Given the description of an element on the screen output the (x, y) to click on. 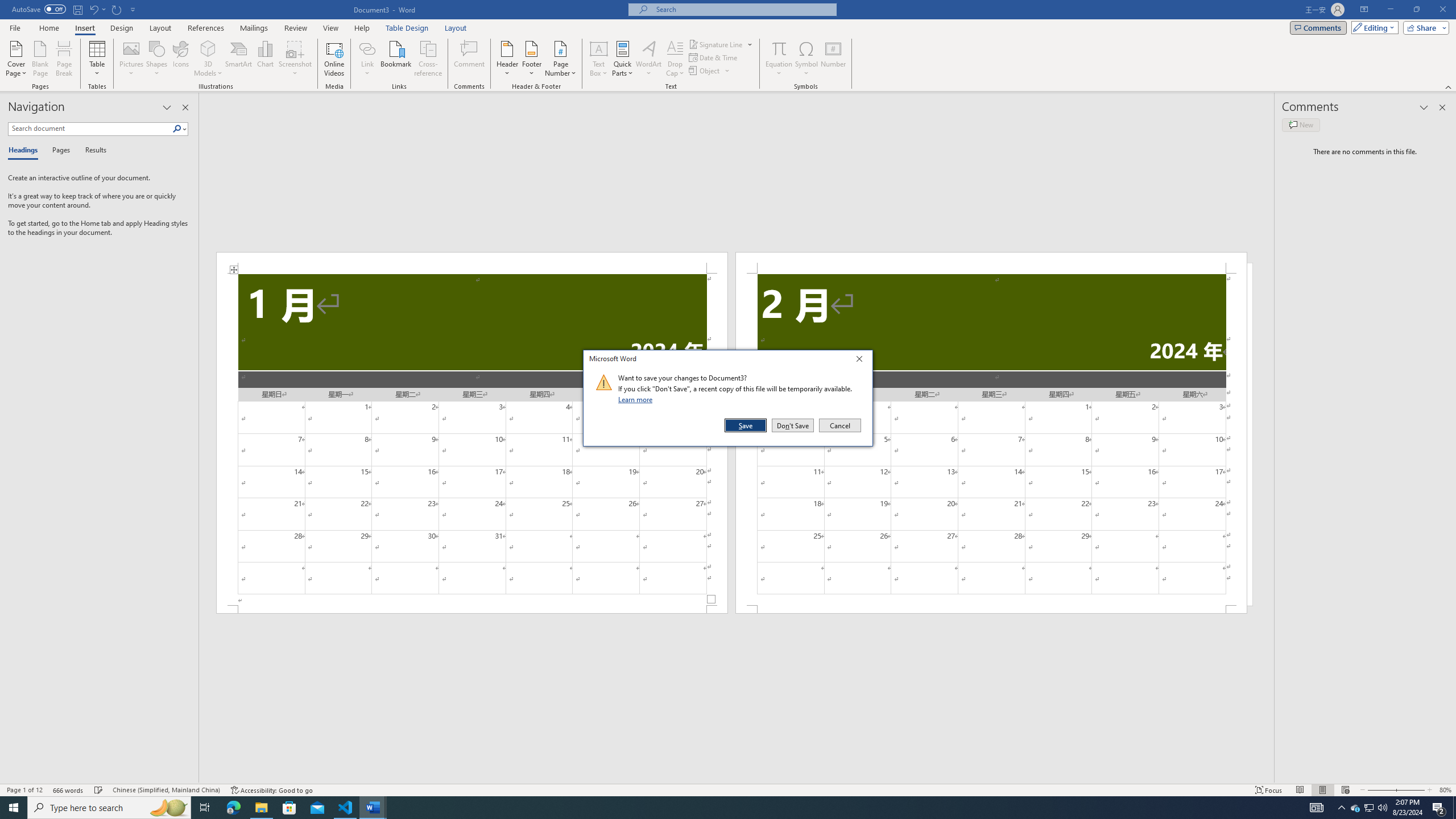
WordArt (648, 58)
Number... (833, 58)
Signature Line (716, 44)
Page Break (63, 58)
Microsoft search (742, 9)
Cover Page (16, 58)
Results (91, 150)
Symbol (806, 58)
Notification Chevron (1341, 807)
Action Center, 2 new notifications (1439, 807)
